Given the description of an element on the screen output the (x, y) to click on. 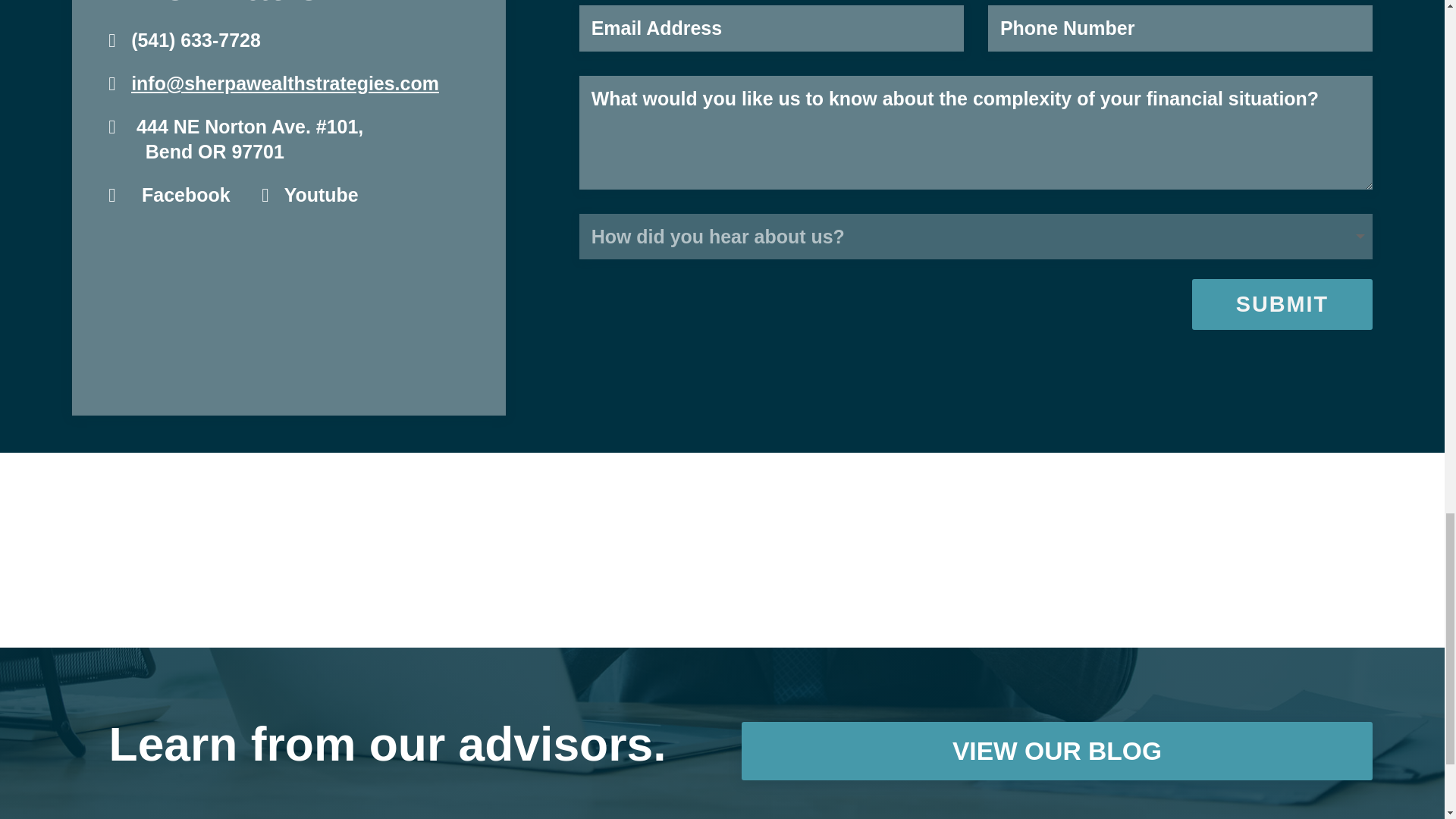
Facebook (185, 194)
SUBMIT (1282, 304)
Youtube (320, 194)
